Given the description of an element on the screen output the (x, y) to click on. 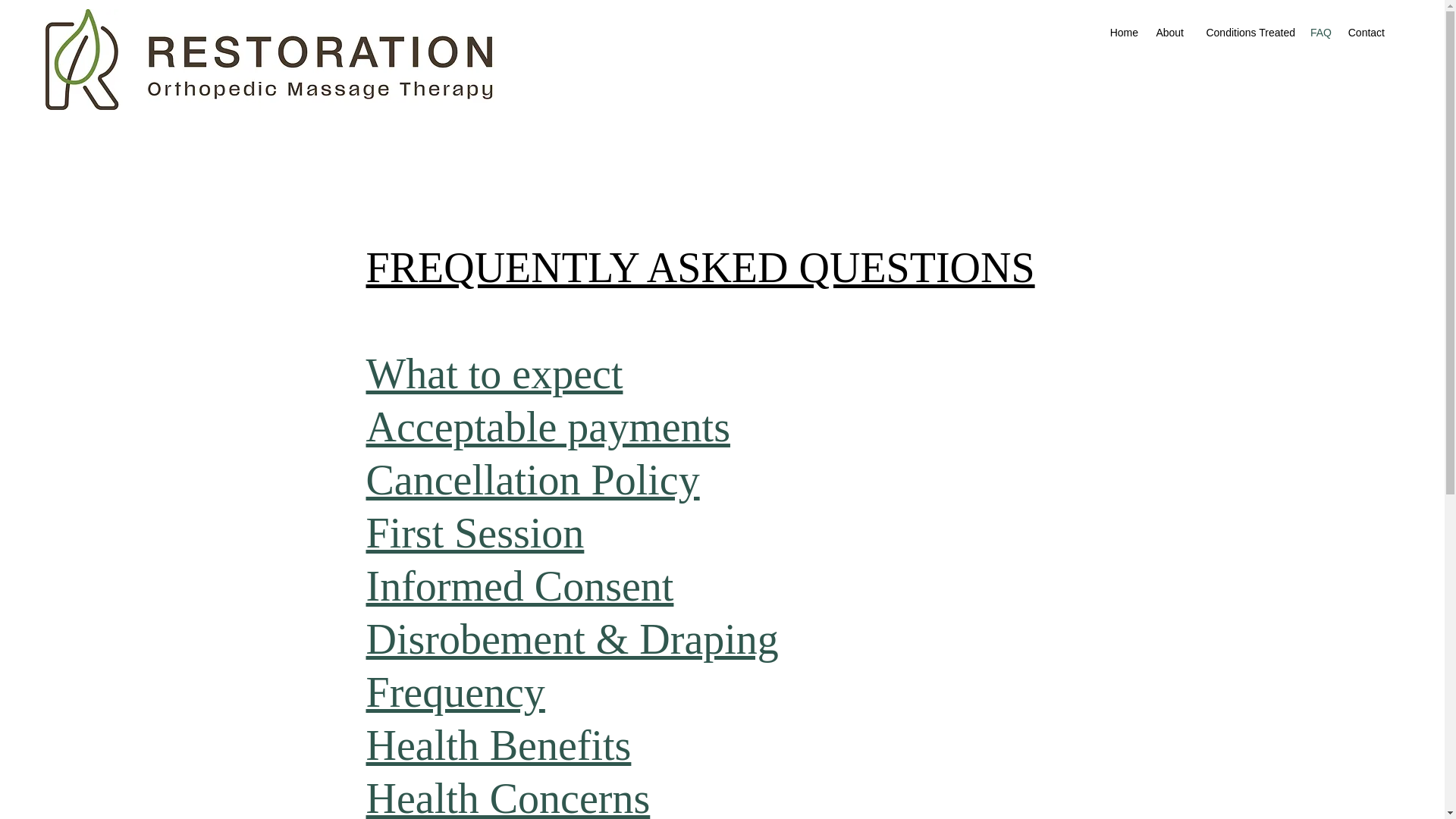
FAQ (1320, 32)
Contact (1364, 32)
First Session (474, 532)
Conditions Treated (1247, 32)
Cancellation Policy (531, 479)
Home (1122, 32)
About (1168, 32)
Informed Consent (518, 585)
Frequency (454, 692)
What to expect (494, 373)
